Given the description of an element on the screen output the (x, y) to click on. 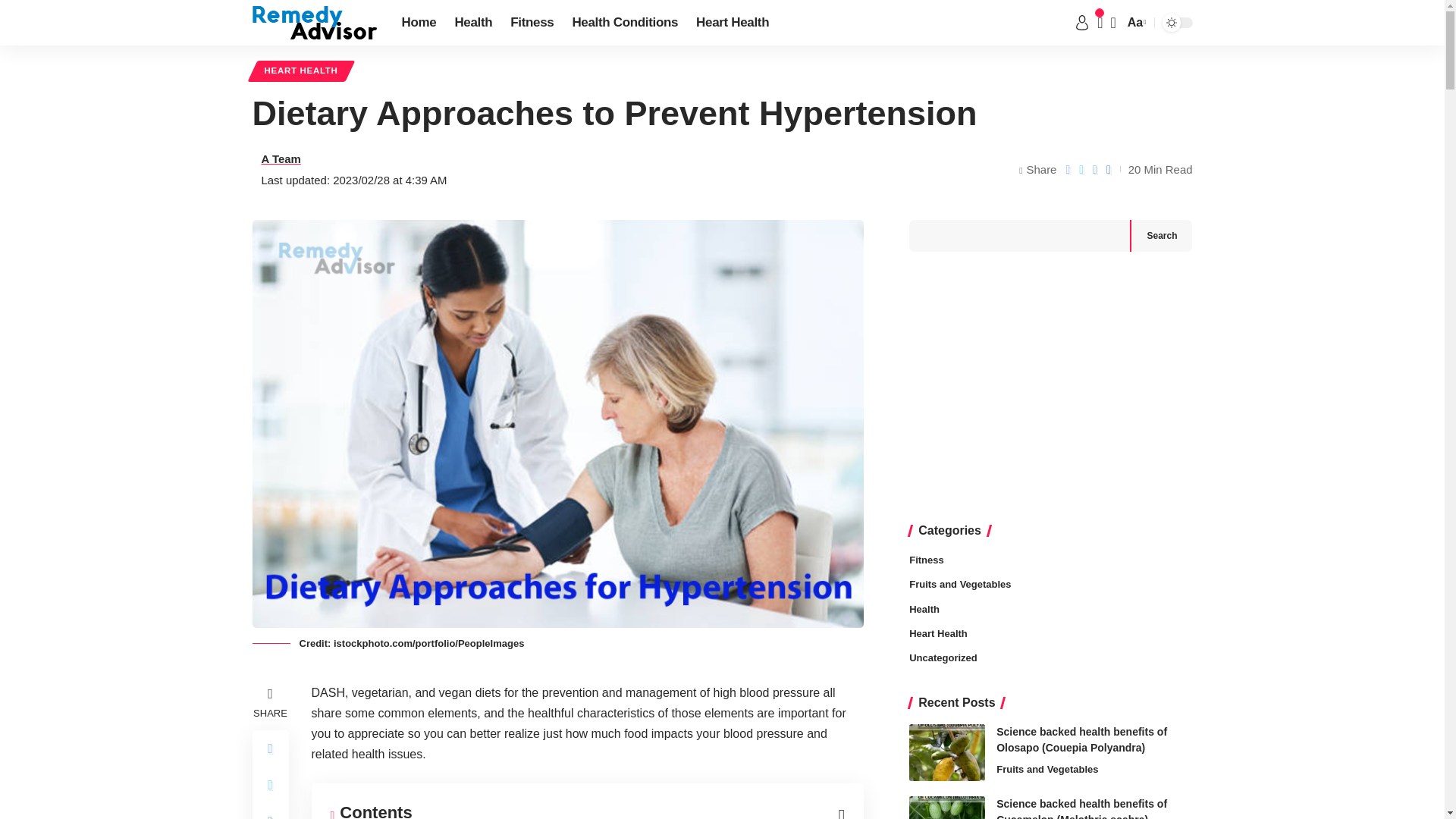
Aa (1135, 22)
Advertisement (1050, 387)
Home (419, 22)
Heart Health (732, 22)
Health Conditions (624, 22)
Health (472, 22)
Fitness (531, 22)
Remedy Advisor (314, 22)
